Given the description of an element on the screen output the (x, y) to click on. 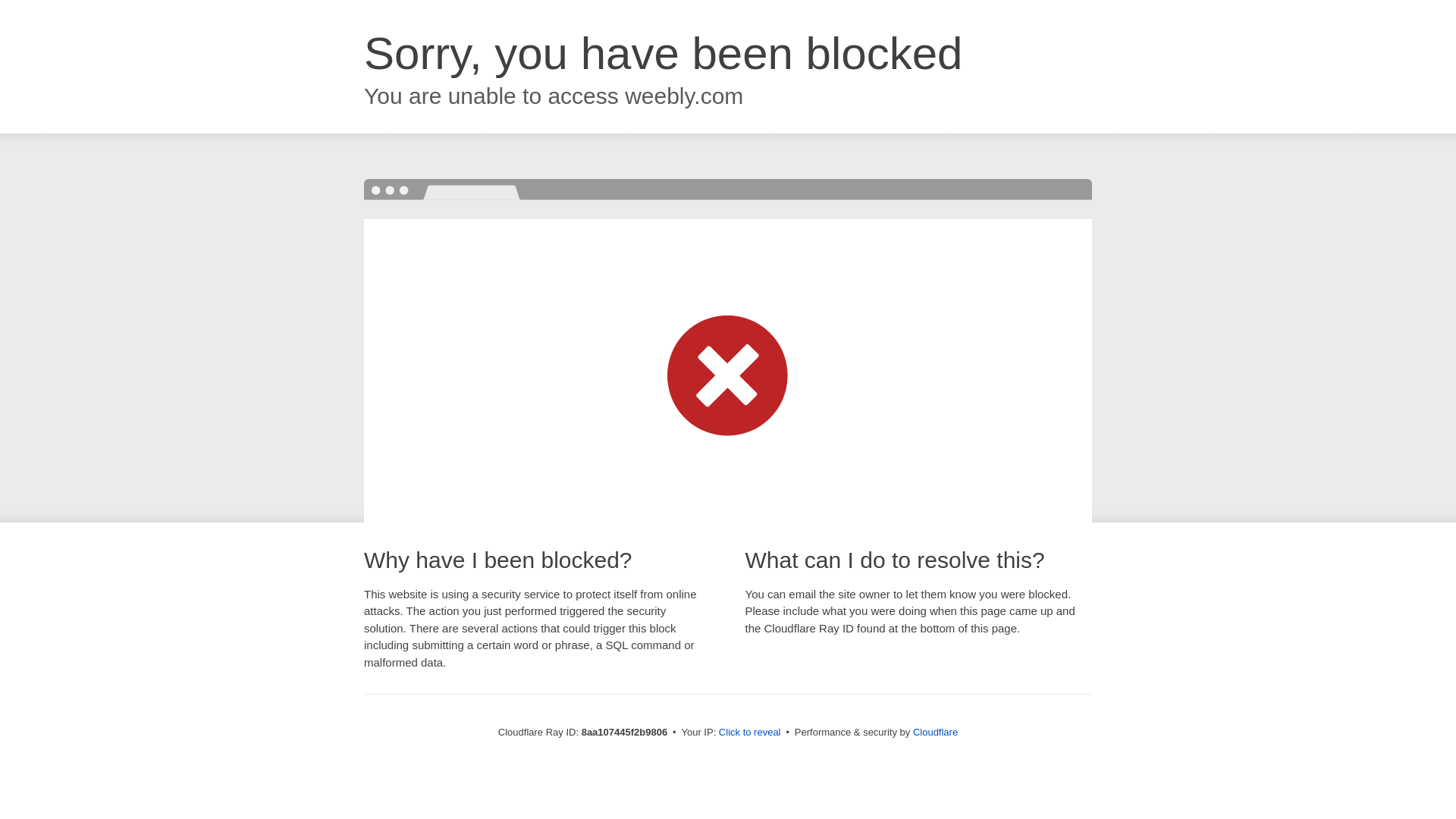
Click to reveal (749, 732)
Cloudflare (935, 731)
